Given the description of an element on the screen output the (x, y) to click on. 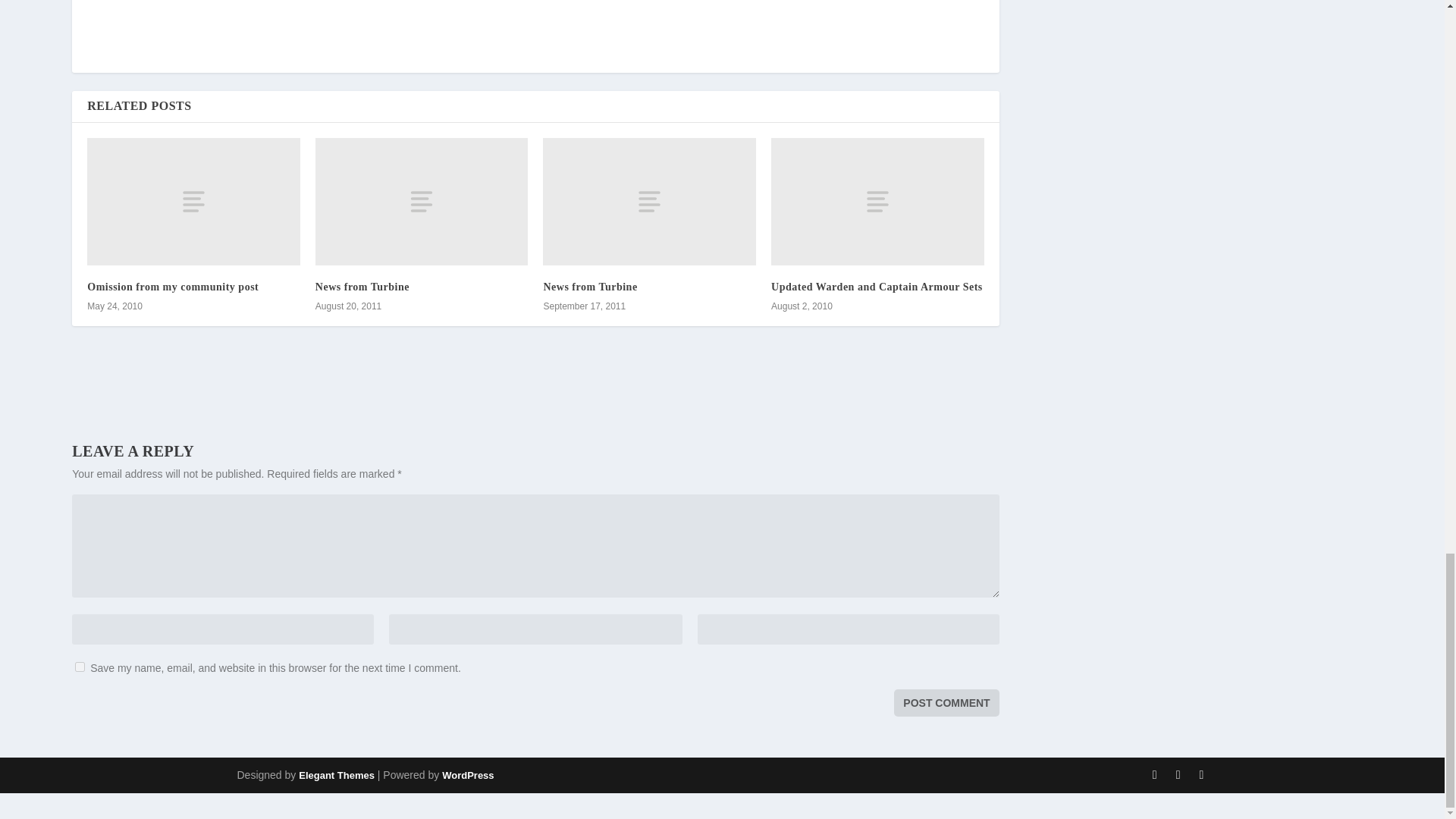
Post Comment (945, 702)
yes (79, 666)
